Given the description of an element on the screen output the (x, y) to click on. 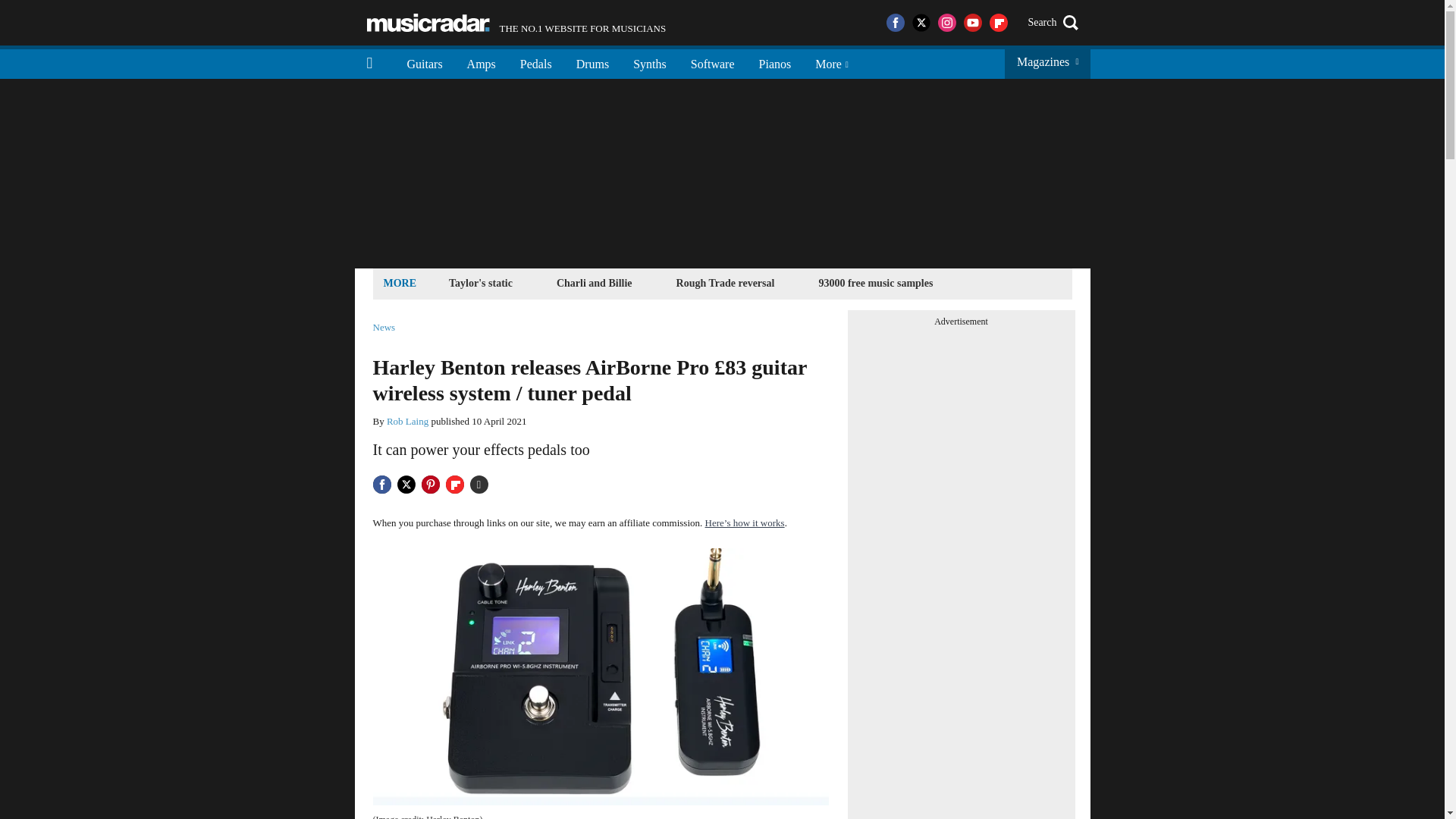
Pedals (536, 61)
Music Radar (516, 22)
Pianos (427, 22)
Taylor's static (774, 61)
Amps (481, 282)
Rob Laing (481, 61)
Rough Trade reversal (407, 420)
93000 free music samples (725, 282)
Drums (874, 282)
